Given the description of an element on the screen output the (x, y) to click on. 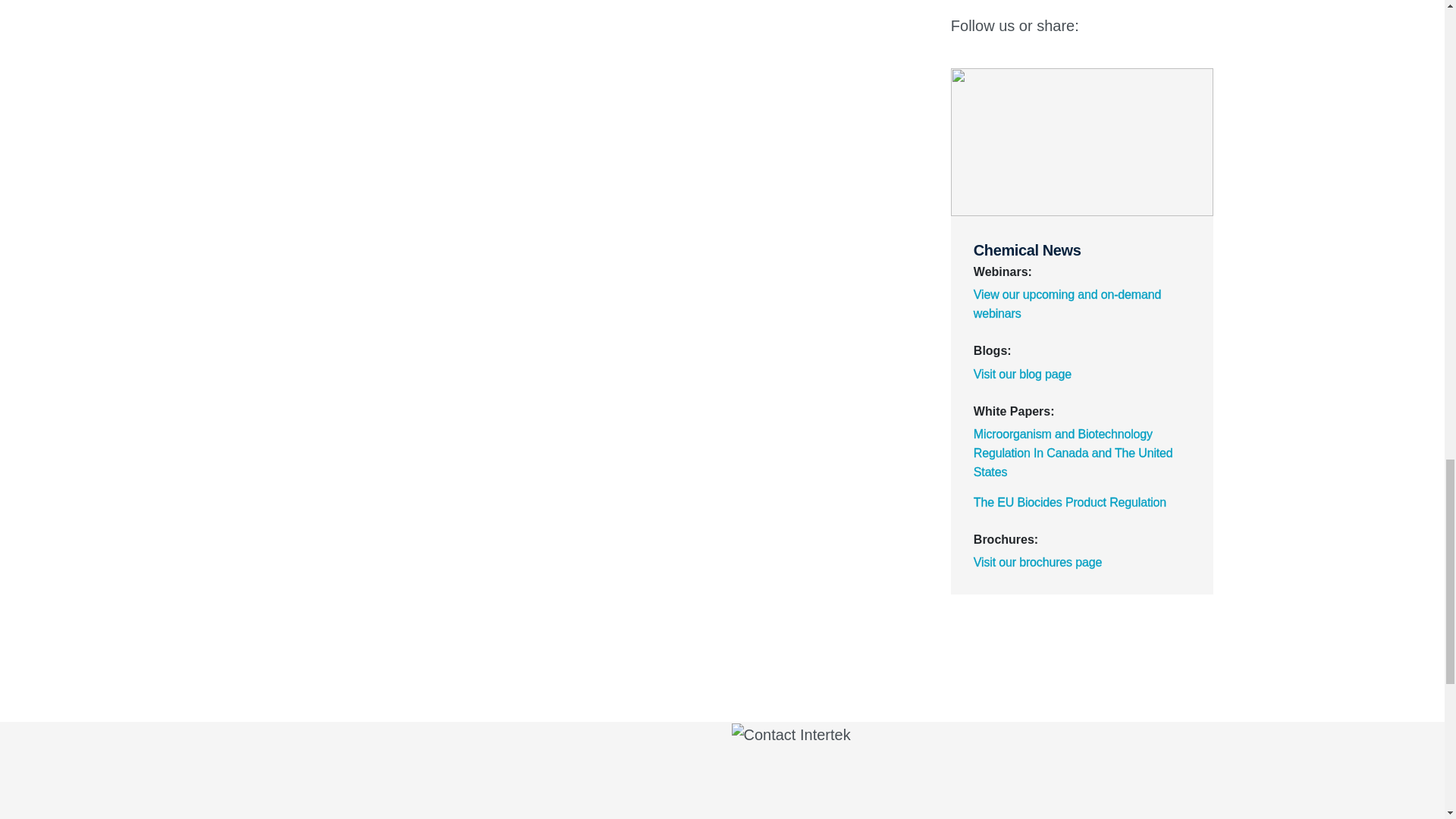
LinkedIn Logo Icon for LinkedIn (1102, 25)
YouTube Logo Icon for YouTube (1195, 25)
Facebook Logo Icon for Facebook (1164, 25)
